Given the description of an element on the screen output the (x, y) to click on. 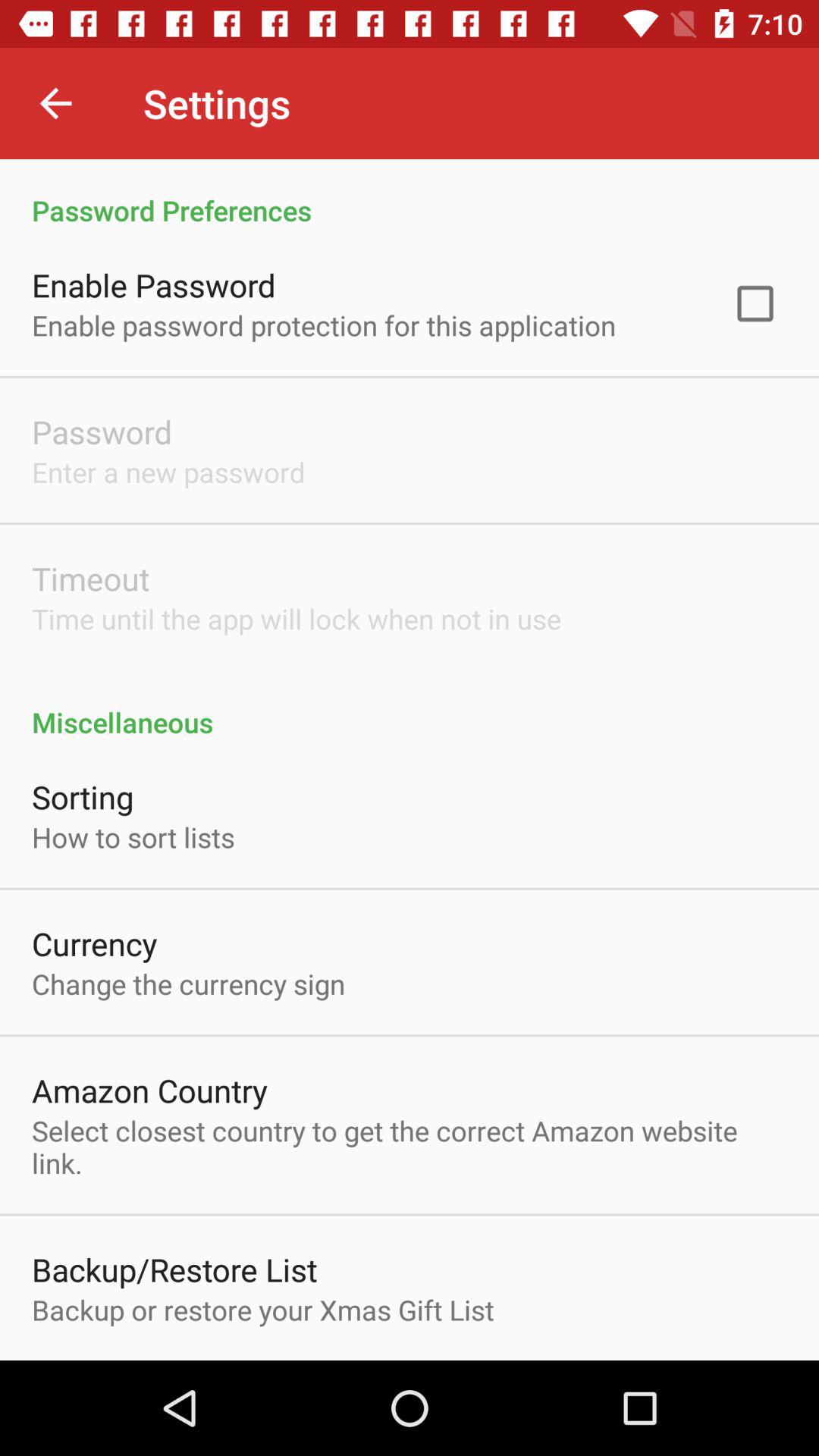
scroll to miscellaneous icon (409, 706)
